Given the description of an element on the screen output the (x, y) to click on. 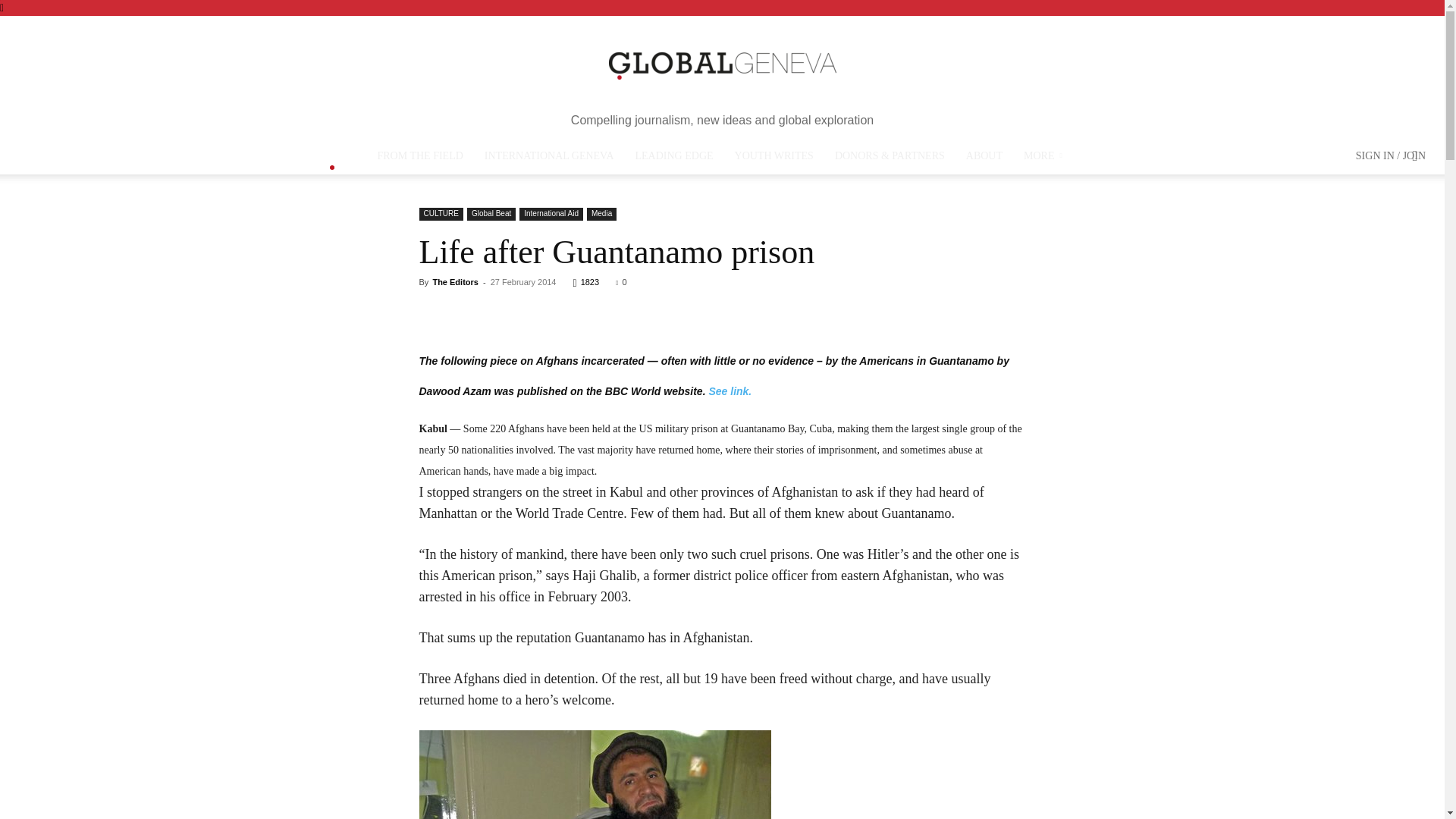
SMALL LOGO (332, 157)
LEADING EDGE (673, 156)
FROM THE FIELD (420, 156)
ABOUT (984, 156)
INTERNATIONAL GENEVA (549, 156)
YOUTH WRITES (773, 156)
topFacebookLike (430, 309)
MORE (1045, 156)
